Given the description of an element on the screen output the (x, y) to click on. 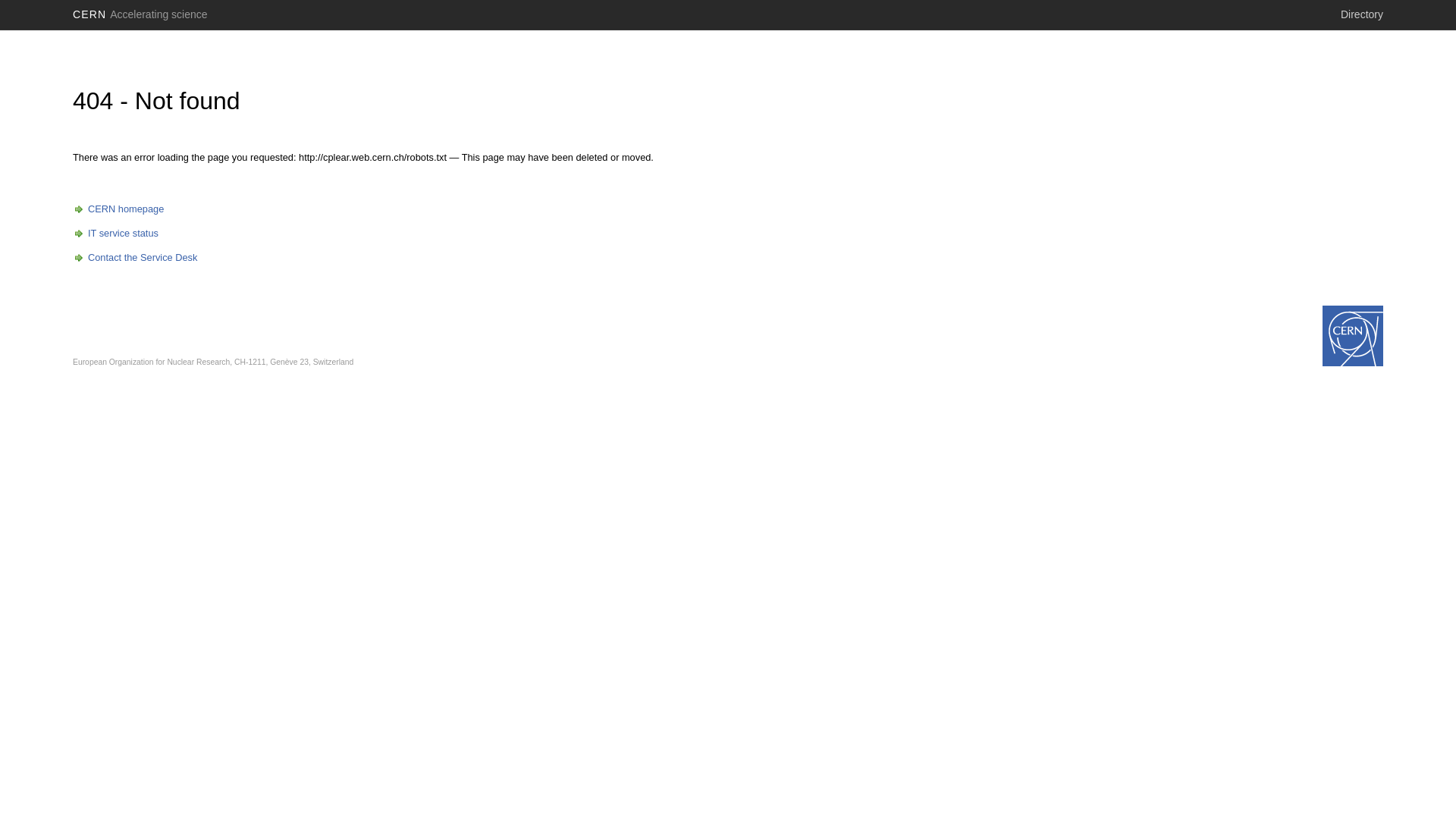
www.cern.ch Element type: hover (1352, 335)
Directory Element type: text (1361, 14)
IT service status Element type: text (115, 232)
CERN Accelerating science Element type: text (139, 14)
Contact the Service Desk Element type: text (134, 257)
CERN homepage Element type: text (117, 208)
